Given the description of an element on the screen output the (x, y) to click on. 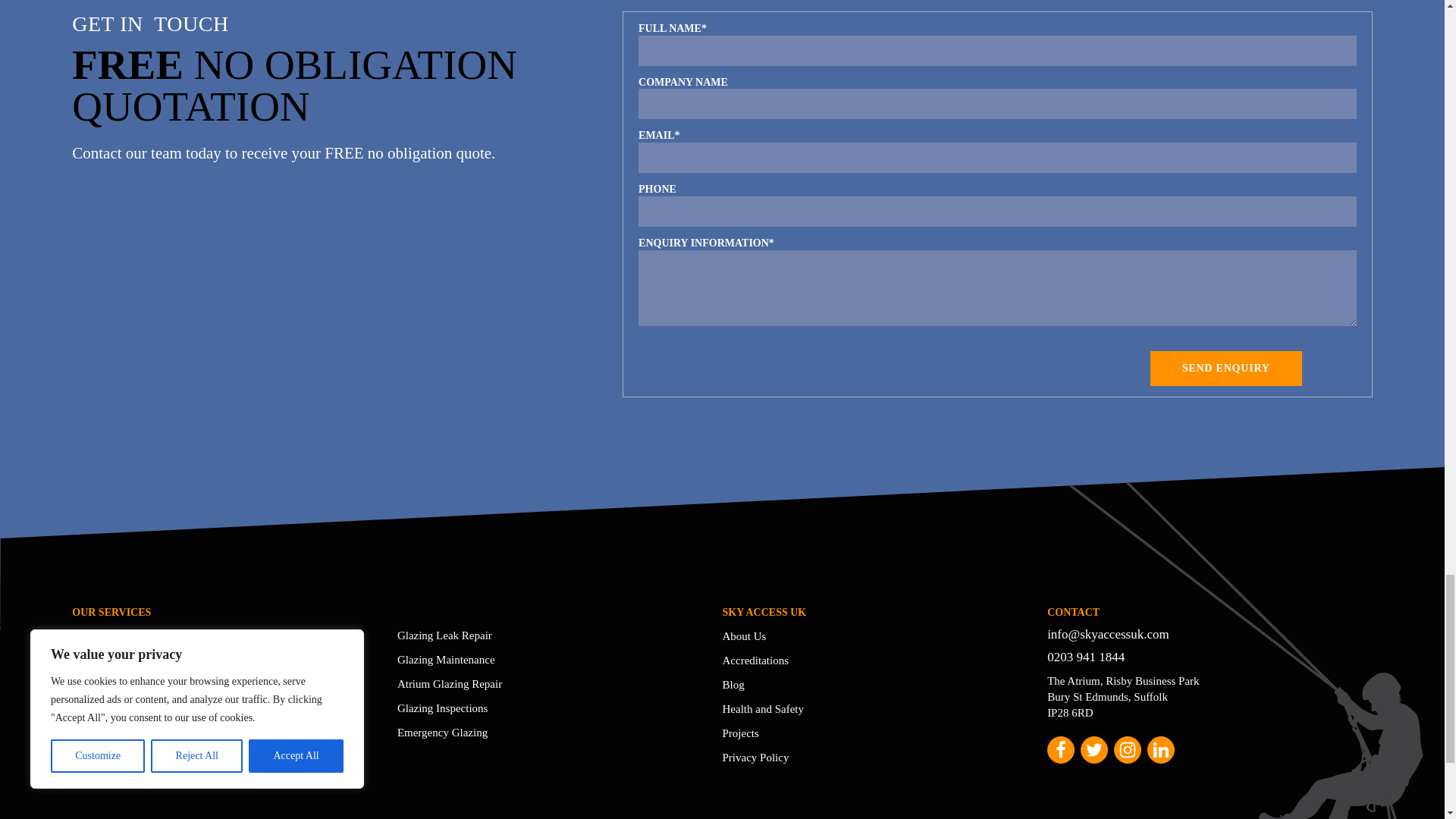
Send Enquiry (1225, 368)
